Given the description of an element on the screen output the (x, y) to click on. 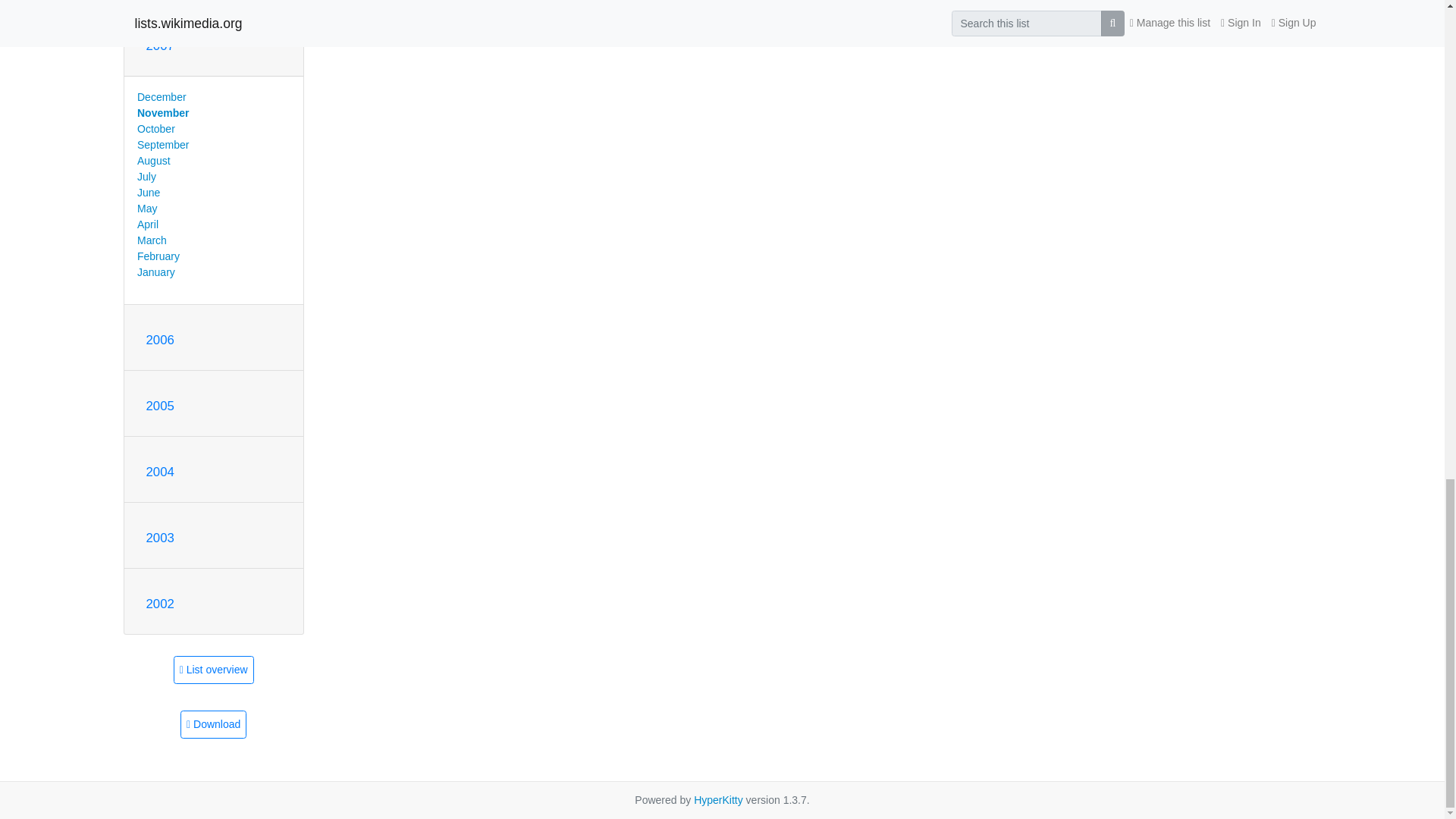
This message in gzipped mbox format (213, 724)
